Given the description of an element on the screen output the (x, y) to click on. 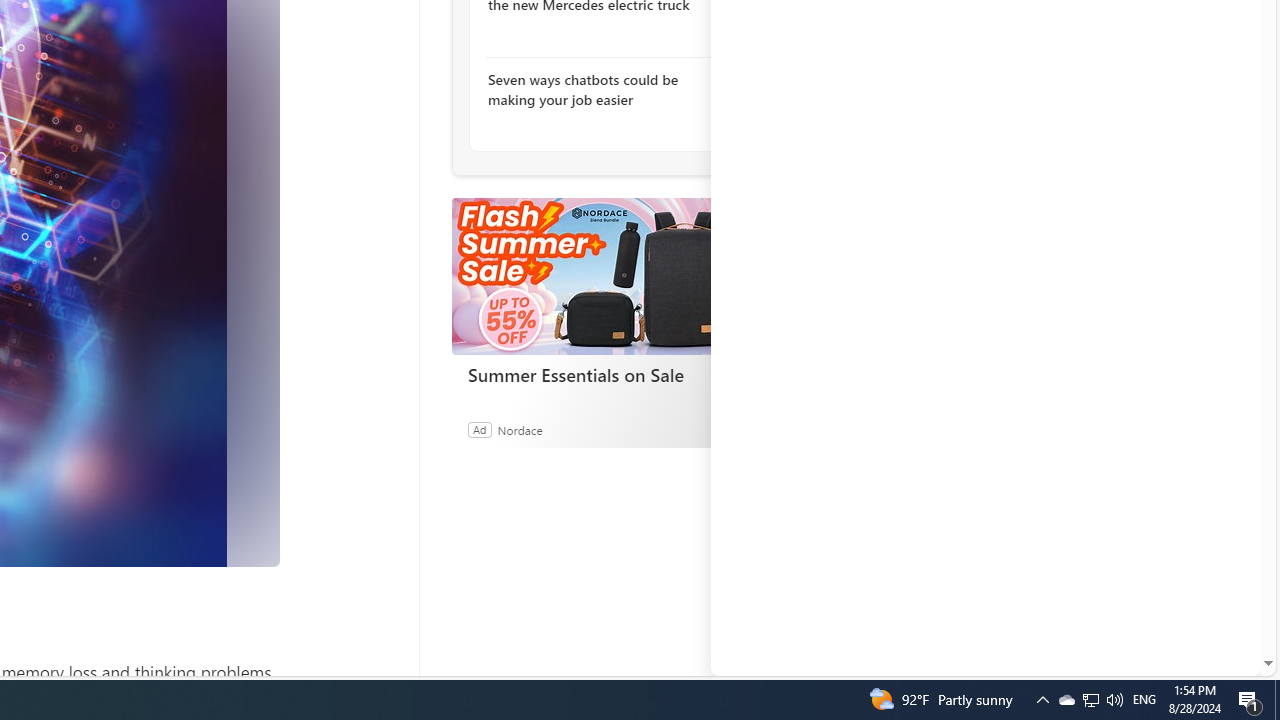
Summer Essentials on Sale (601, 276)
Seven ways chatbots could be making your job easier (596, 89)
Summer Essentials on Sale (601, 374)
